Given the description of an element on the screen output the (x, y) to click on. 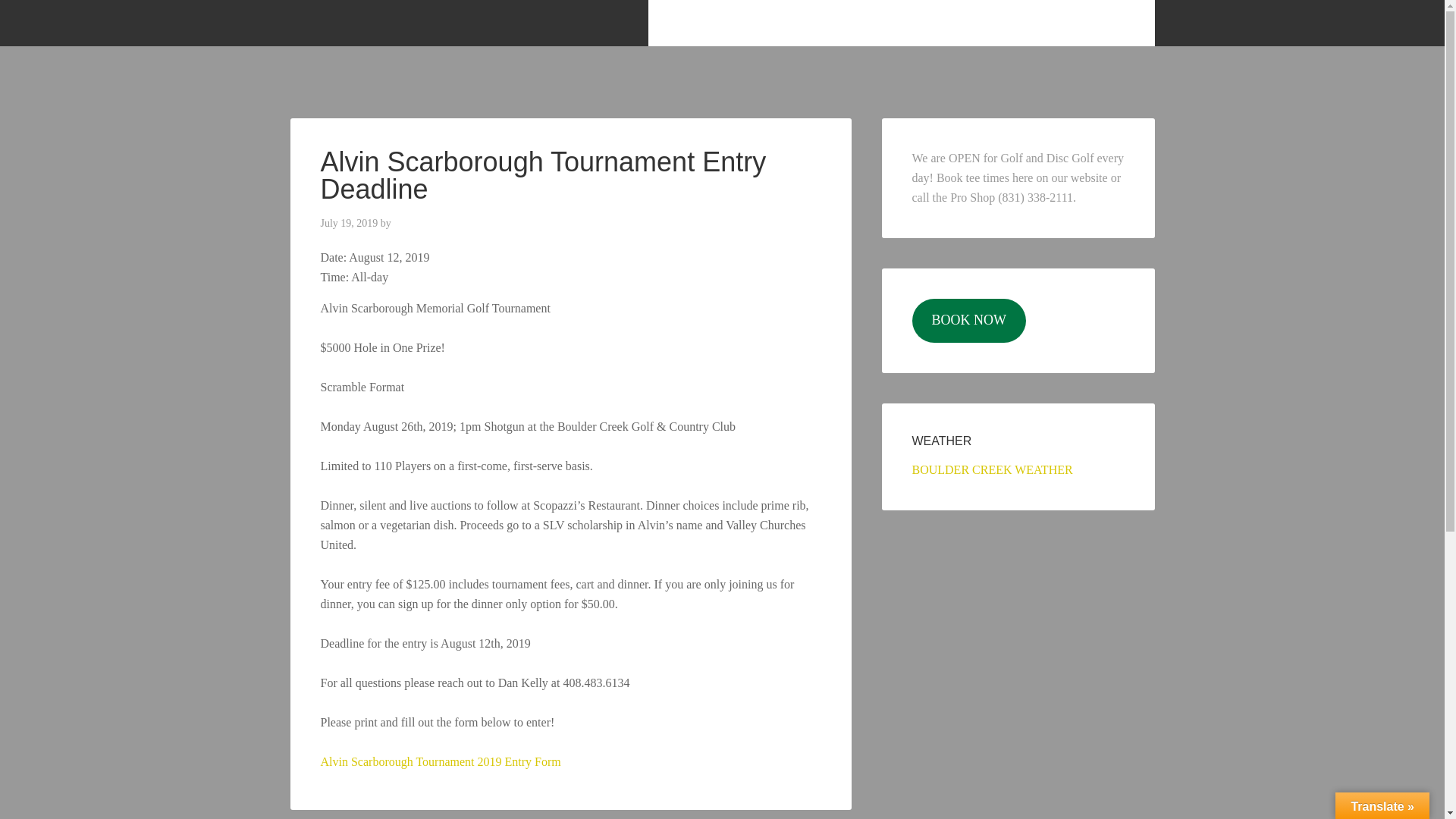
Tournaments (975, 22)
Tee Times (1058, 22)
Home (673, 22)
About (729, 22)
Disc Golf (838, 22)
BOULDER CREEK WEATHER (991, 469)
Golf (780, 22)
2019-08-12T00:00:00 (369, 277)
Dining (903, 22)
